Given the description of an element on the screen output the (x, y) to click on. 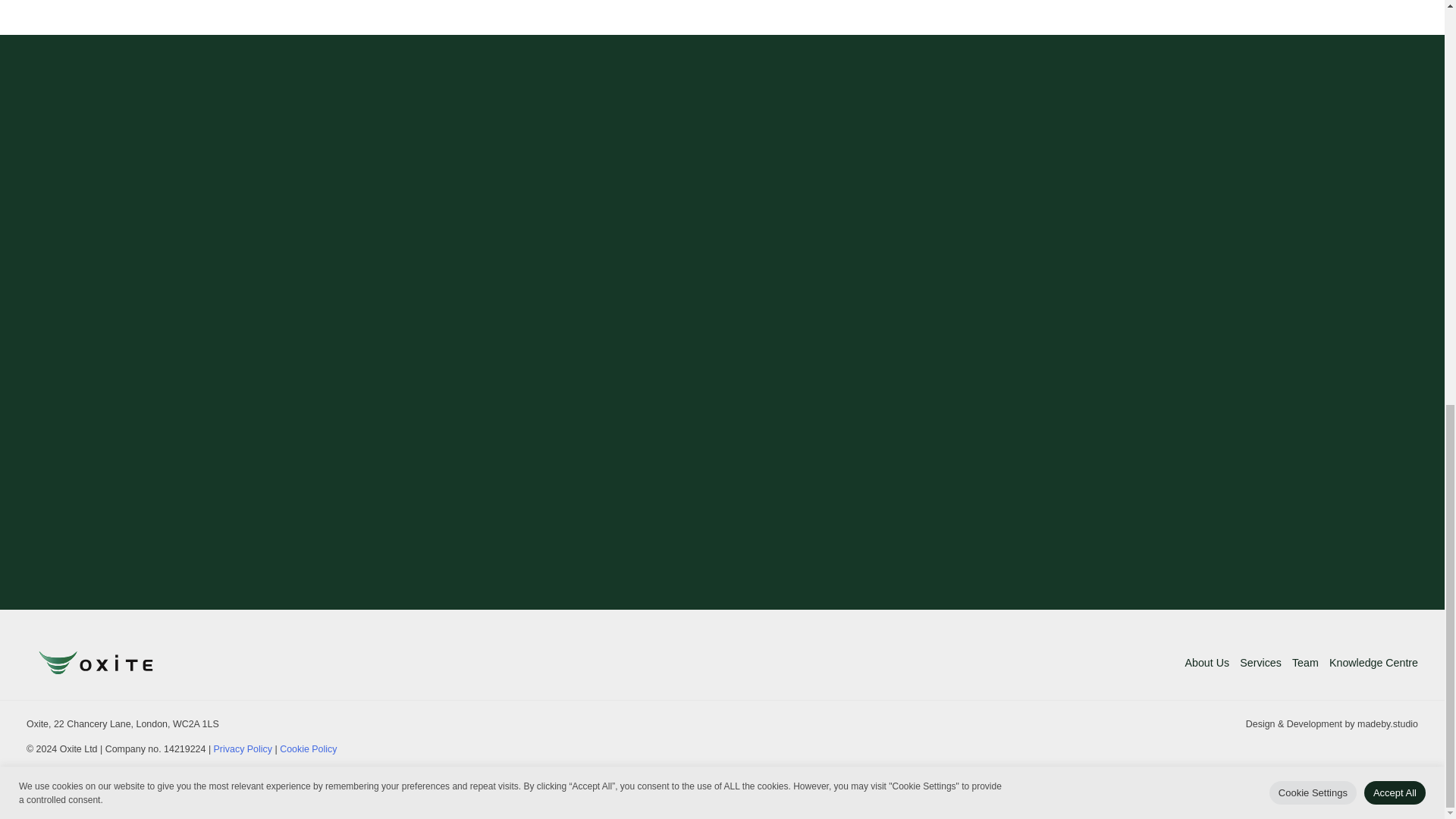
Privacy Policy (243, 748)
wpforms-submit (813, 447)
Cookie Settings (1312, 2)
Services (1260, 661)
Team (1305, 661)
Knowledge Centre (1370, 661)
Cookie Policy (307, 748)
About Us (1209, 661)
